Given the description of an element on the screen output the (x, y) to click on. 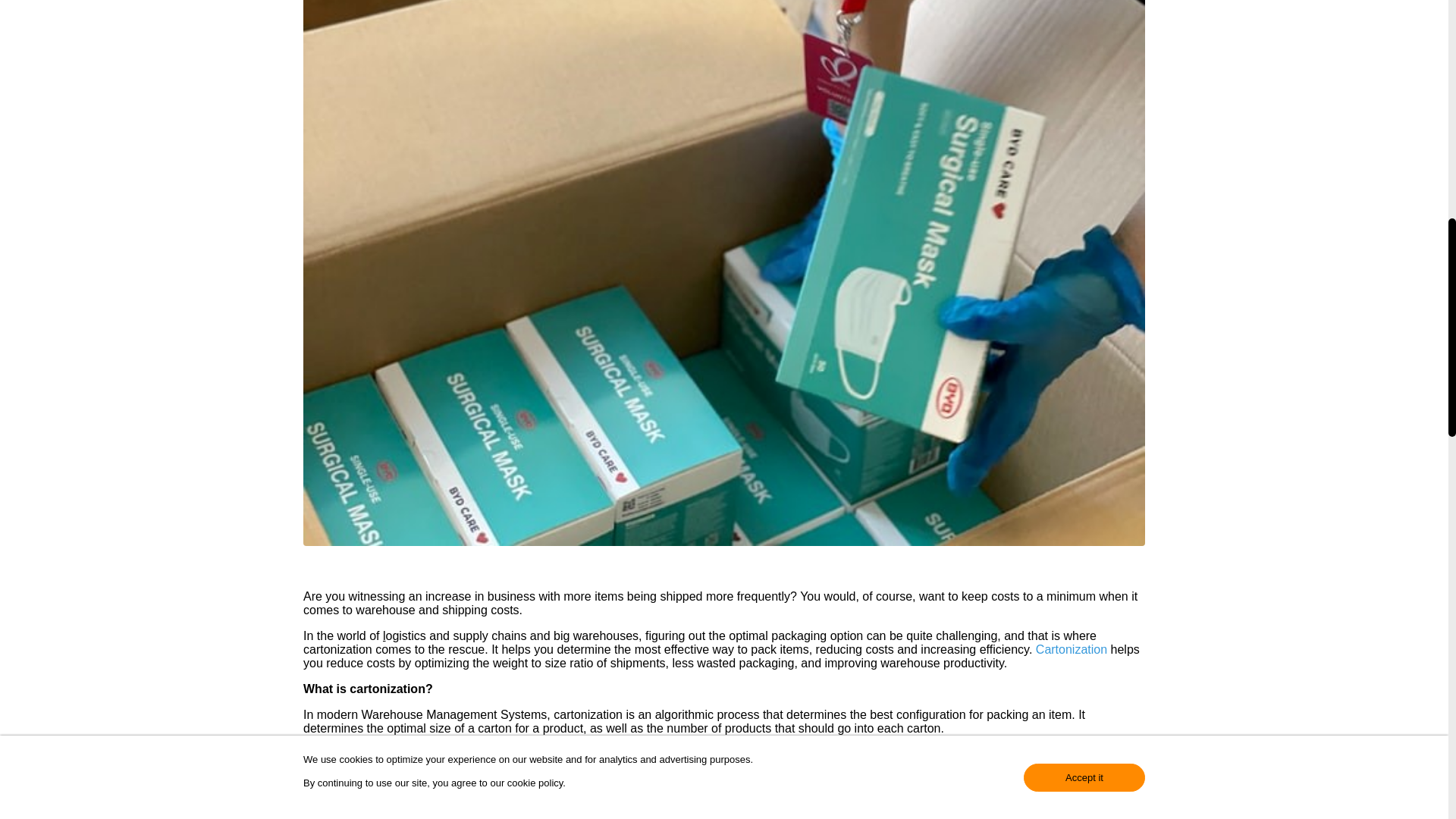
Cartonization (1070, 649)
